Given the description of an element on the screen output the (x, y) to click on. 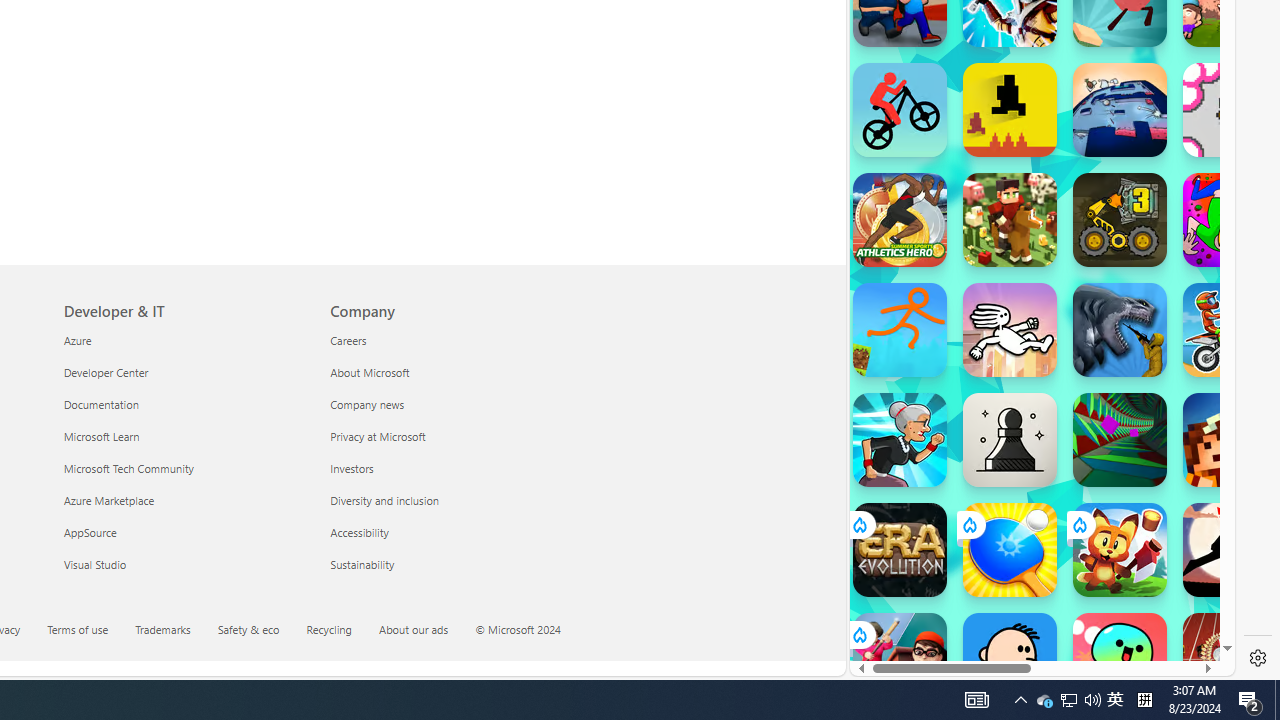
Era: Evolution (899, 549)
Trademarks (162, 628)
JollyWorld (1229, 219)
The Speed Ninja The Speed Ninja (1229, 549)
Azure Marketplace (184, 499)
Fox Island Builder (1119, 549)
About Microsoft (451, 371)
Visual Studio (184, 564)
AppSource Developer & IT (89, 532)
Poor Eddie Poor Eddie (1009, 659)
Crazy Cars (1217, 290)
Hills of Steel (943, 300)
Documentation Developer & IT (100, 403)
